Given the description of an element on the screen output the (x, y) to click on. 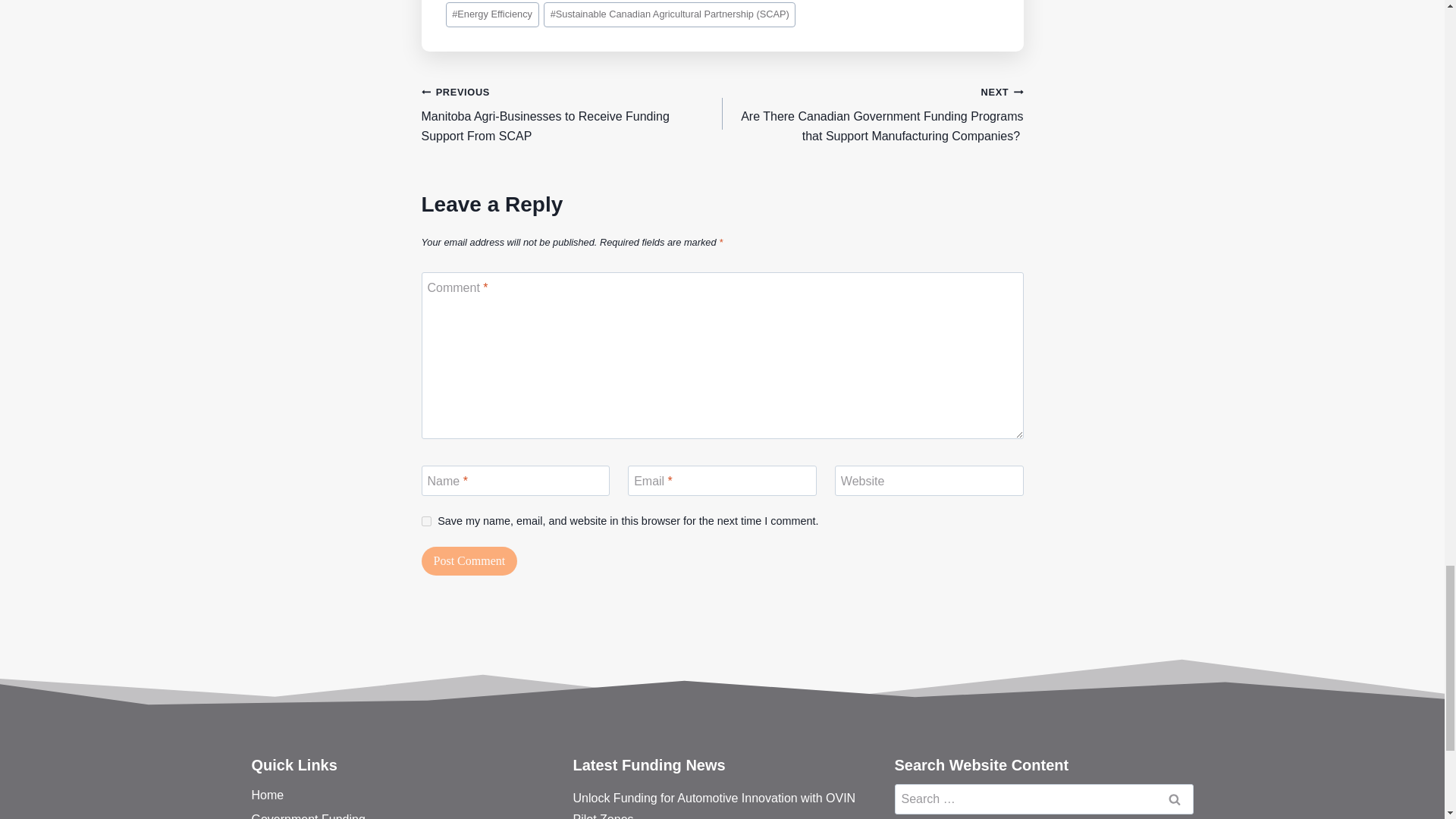
yes (426, 521)
Search (1174, 798)
Search (1174, 798)
Energy Efficiency (491, 14)
Post Comment (470, 561)
